Given the description of an element on the screen output the (x, y) to click on. 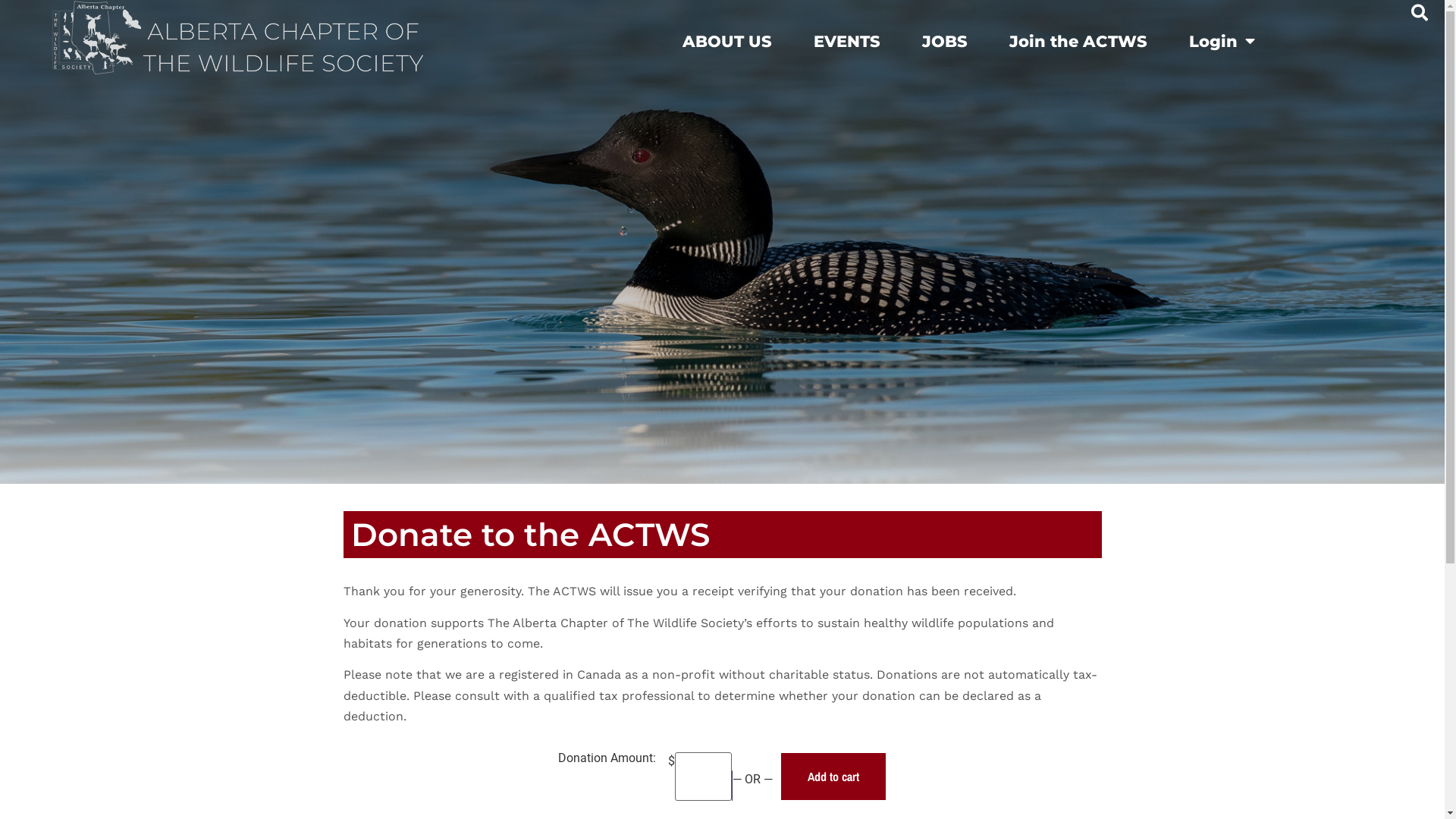
ABOUT US Element type: text (727, 41)
JOBS Element type: text (944, 41)
Join the ACTWS Element type: text (1077, 41)
EVENTS Element type: text (846, 41)
Login Element type: text (1221, 41)
Secure payment button frame Element type: hover (731, 785)
Add to cart Element type: text (833, 776)
